Given the description of an element on the screen output the (x, y) to click on. 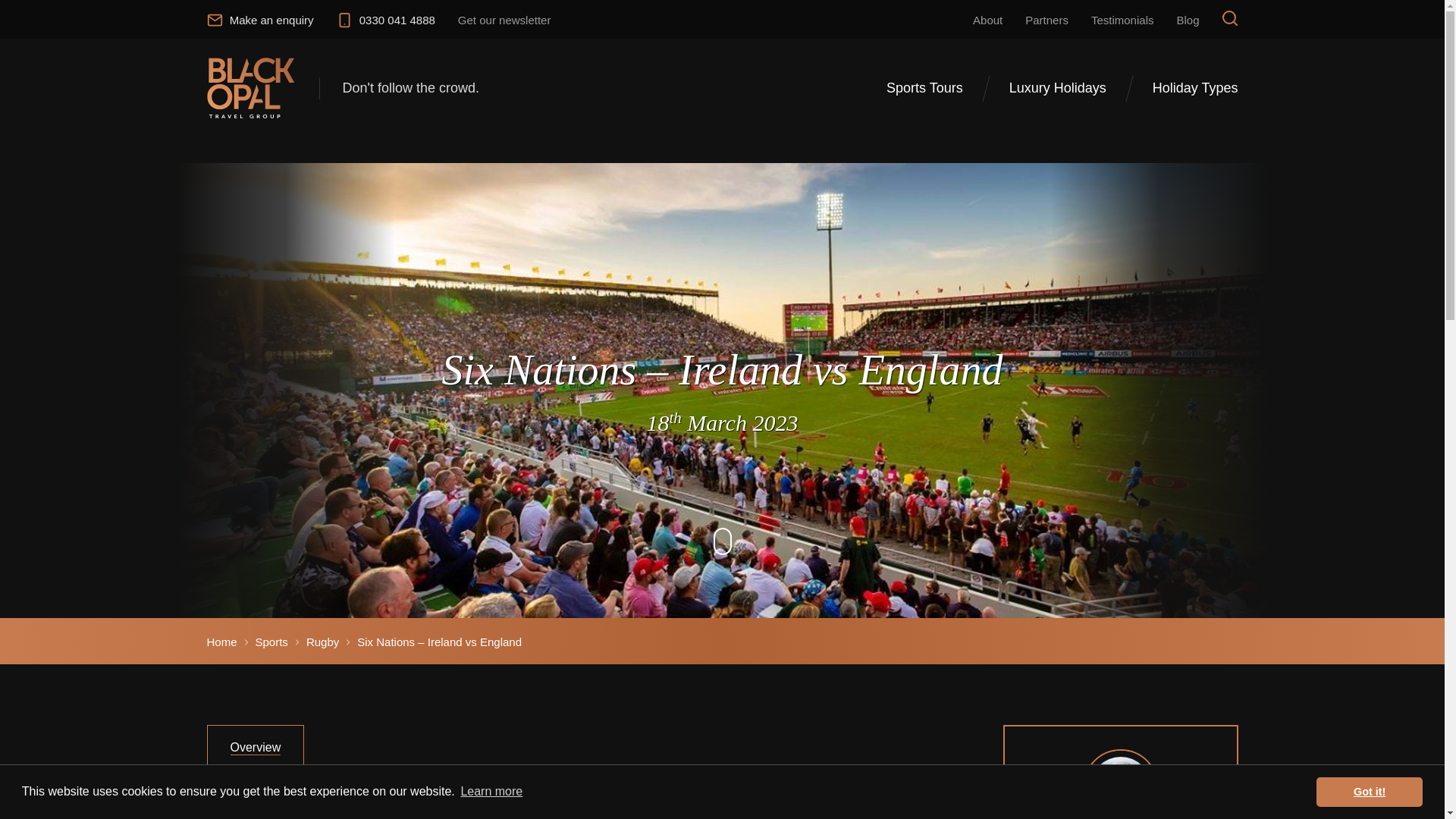
Partners (1046, 20)
About (987, 20)
0330 041 4888 (385, 20)
Learn more (491, 791)
Blog (1188, 20)
Testimonials (1122, 20)
Get our newsletter (504, 20)
Got it! (1369, 791)
Make an enquiry (259, 20)
Sports Tours (924, 97)
